Given the description of an element on the screen output the (x, y) to click on. 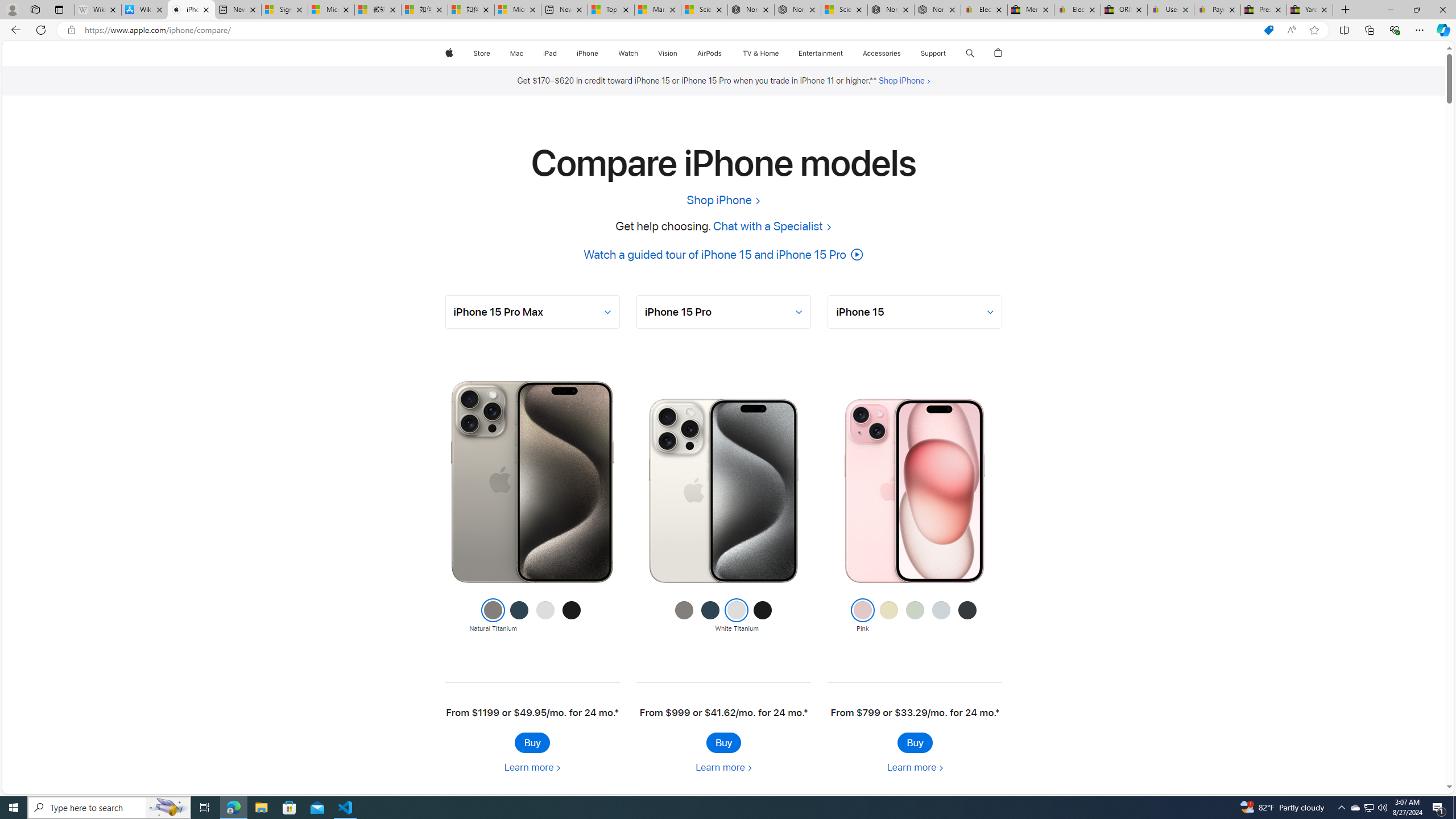
Footnote * symbol (997, 712)
Class: colornav-link (967, 610)
iPad (550, 53)
Accessories (881, 53)
Support menu (948, 53)
Support (932, 53)
Mac menu (524, 53)
Apple (448, 53)
